Given the description of an element on the screen output the (x, y) to click on. 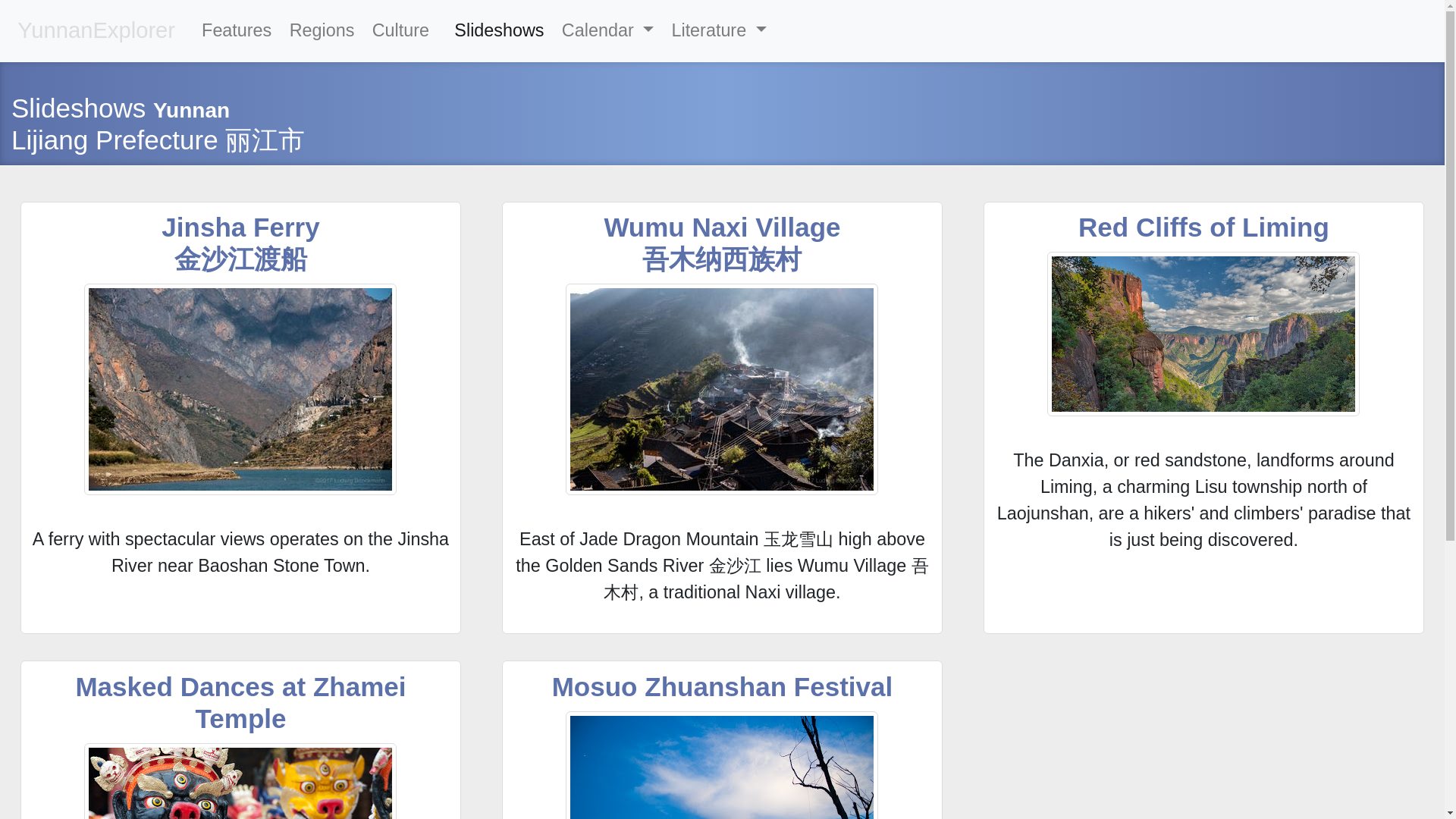
Literature (718, 31)
Mosuo Zhuanshan Festival (722, 686)
Regions (321, 31)
Red Cliffs of Liming (1203, 226)
Calendar (607, 31)
YunnanExplorer (95, 31)
Slideshows (499, 31)
Masked Dances at Zhamei Temple (240, 702)
Yunnan (191, 110)
Features (236, 31)
